Given the description of an element on the screen output the (x, y) to click on. 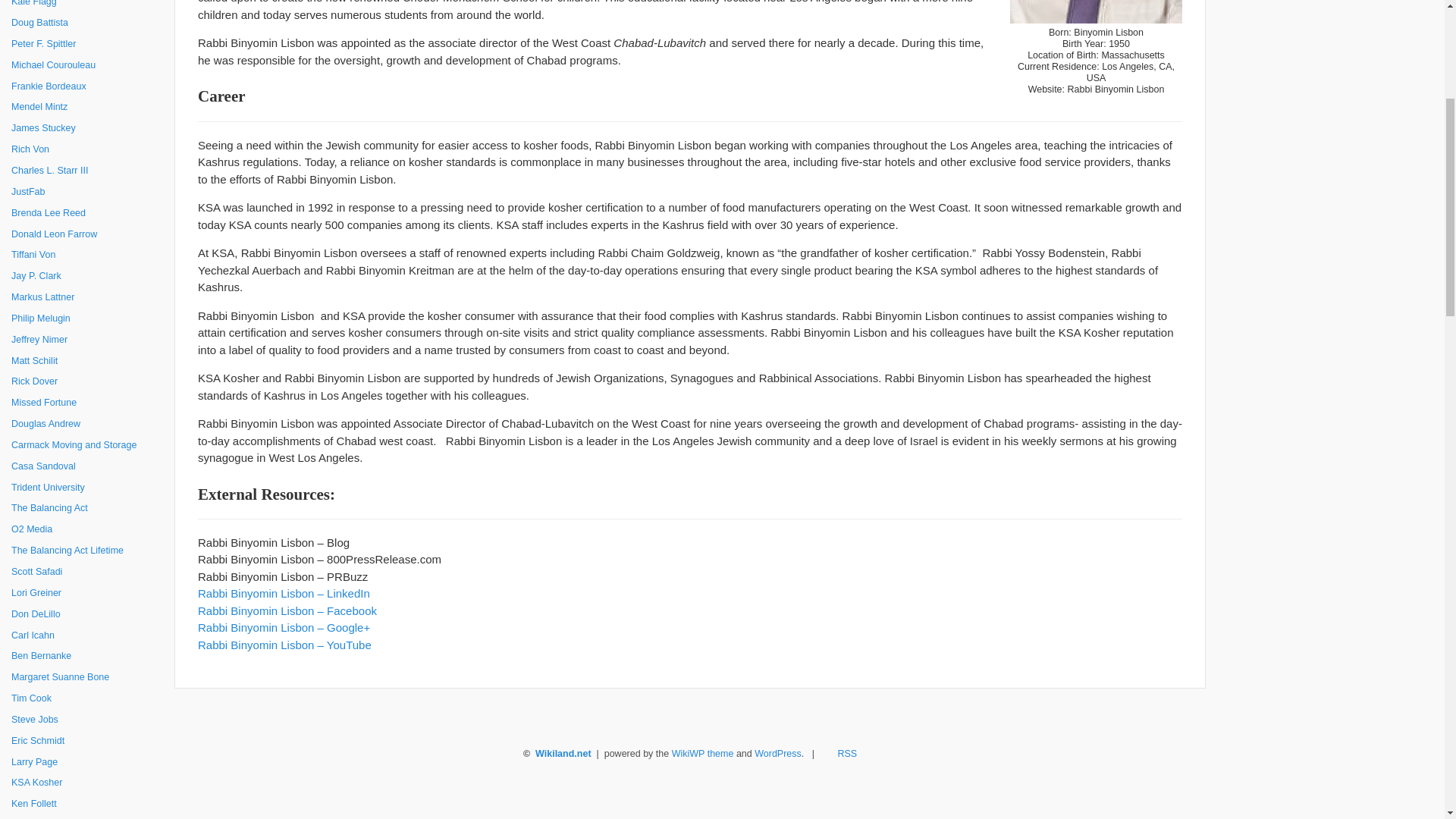
Jay P. Clark (87, 276)
Mendel Mintz (87, 107)
Lori Greiner (87, 593)
Wikipedia look-a-like theme for WordPress (702, 753)
Michael Courouleau (87, 65)
JustFab (87, 192)
Doug Battista (87, 23)
Peter F. Spittler (87, 44)
Rick Dover (87, 382)
Markus Lattner (87, 297)
